Given the description of an element on the screen output the (x, y) to click on. 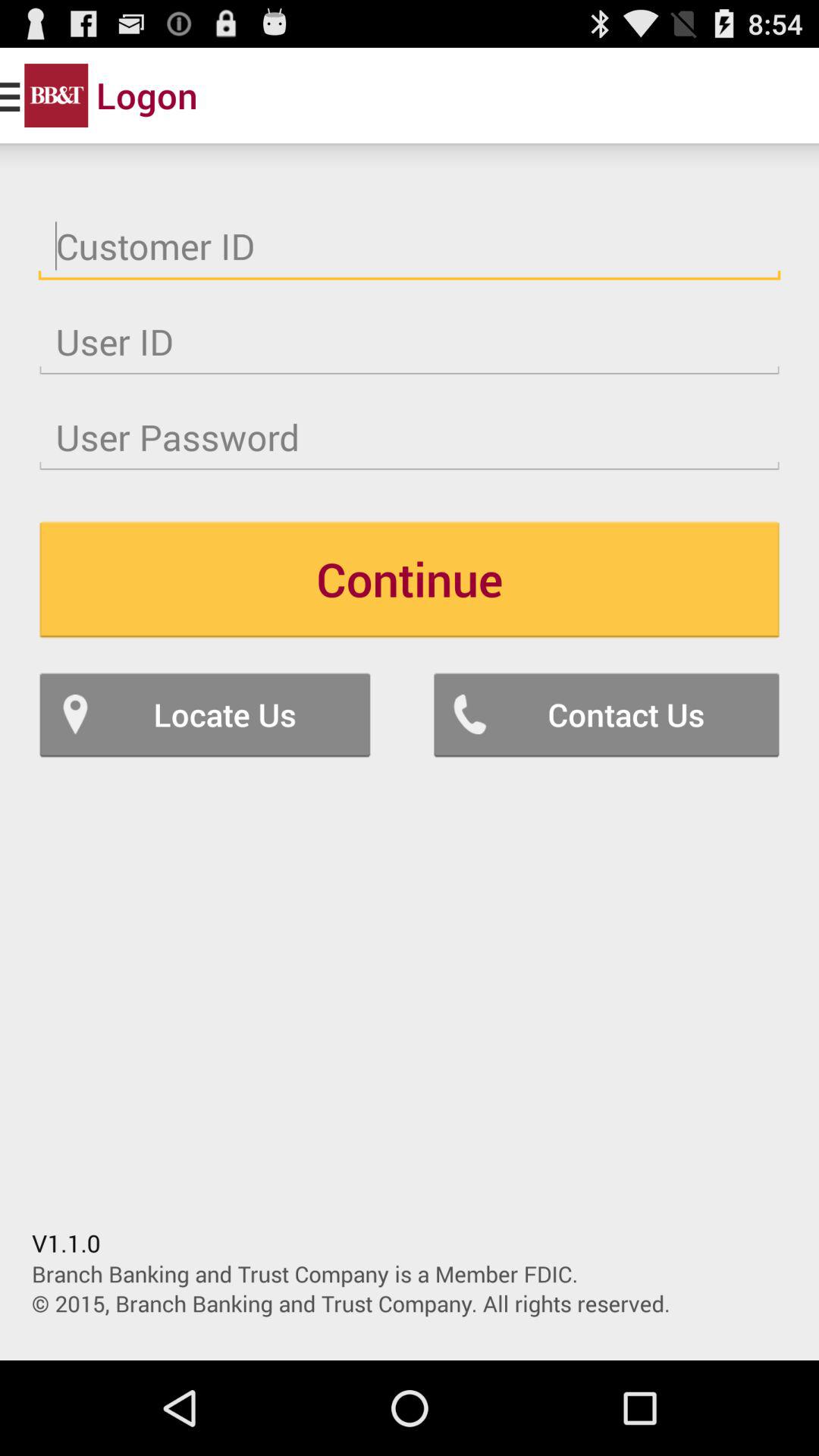
click the icon on the right (606, 714)
